Given the description of an element on the screen output the (x, y) to click on. 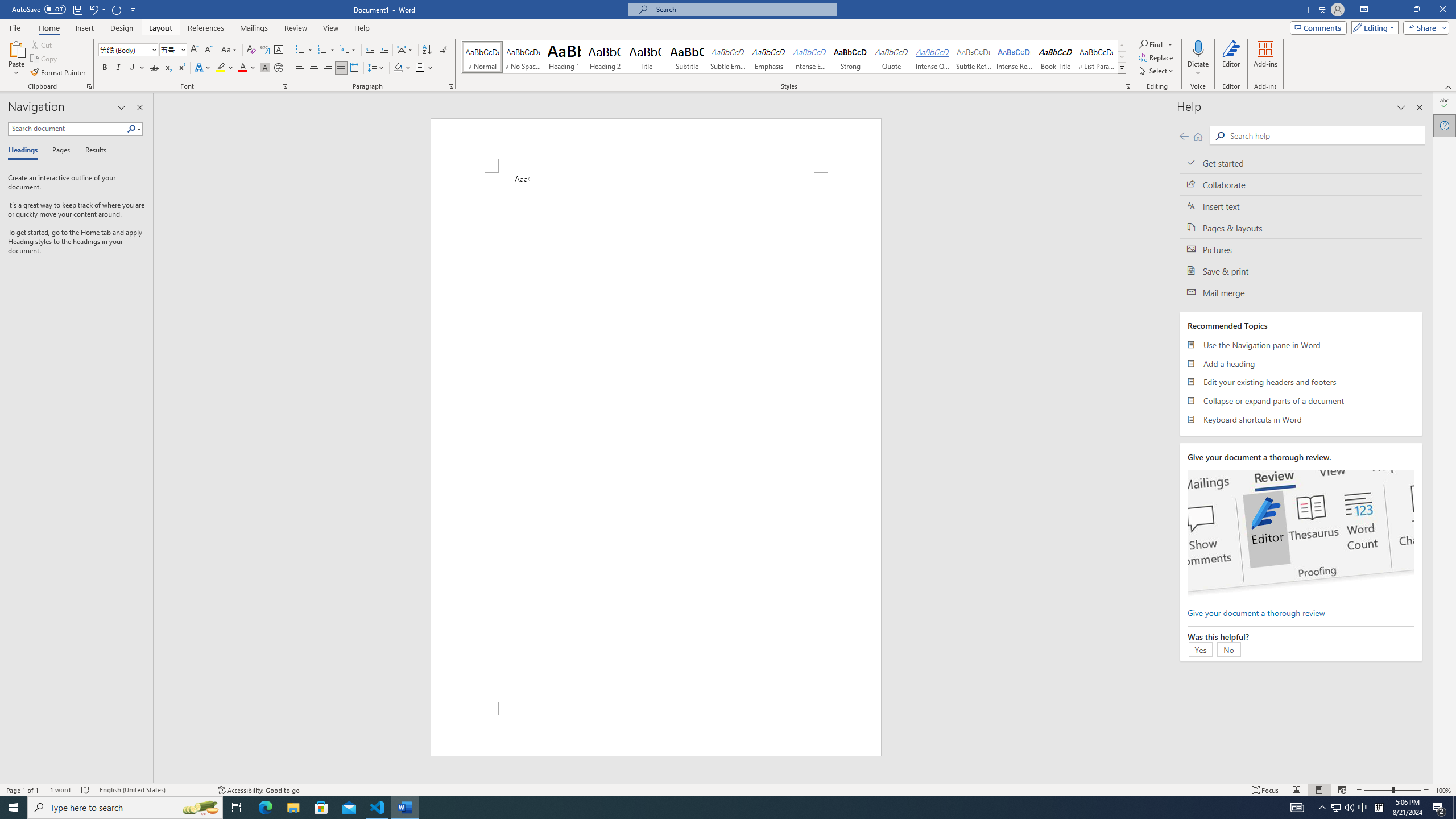
Sort... (426, 49)
Row up (1121, 45)
Edit your existing headers and footers (1300, 381)
Align Left (300, 67)
Class: MsoCommandBar (728, 789)
Mode (1372, 27)
Accessibility Checker Accessibility: Good to go (258, 790)
Strong (849, 56)
Styles... (1127, 85)
Give your document a thorough review (1256, 611)
Shading (402, 67)
